Given the description of an element on the screen output the (x, y) to click on. 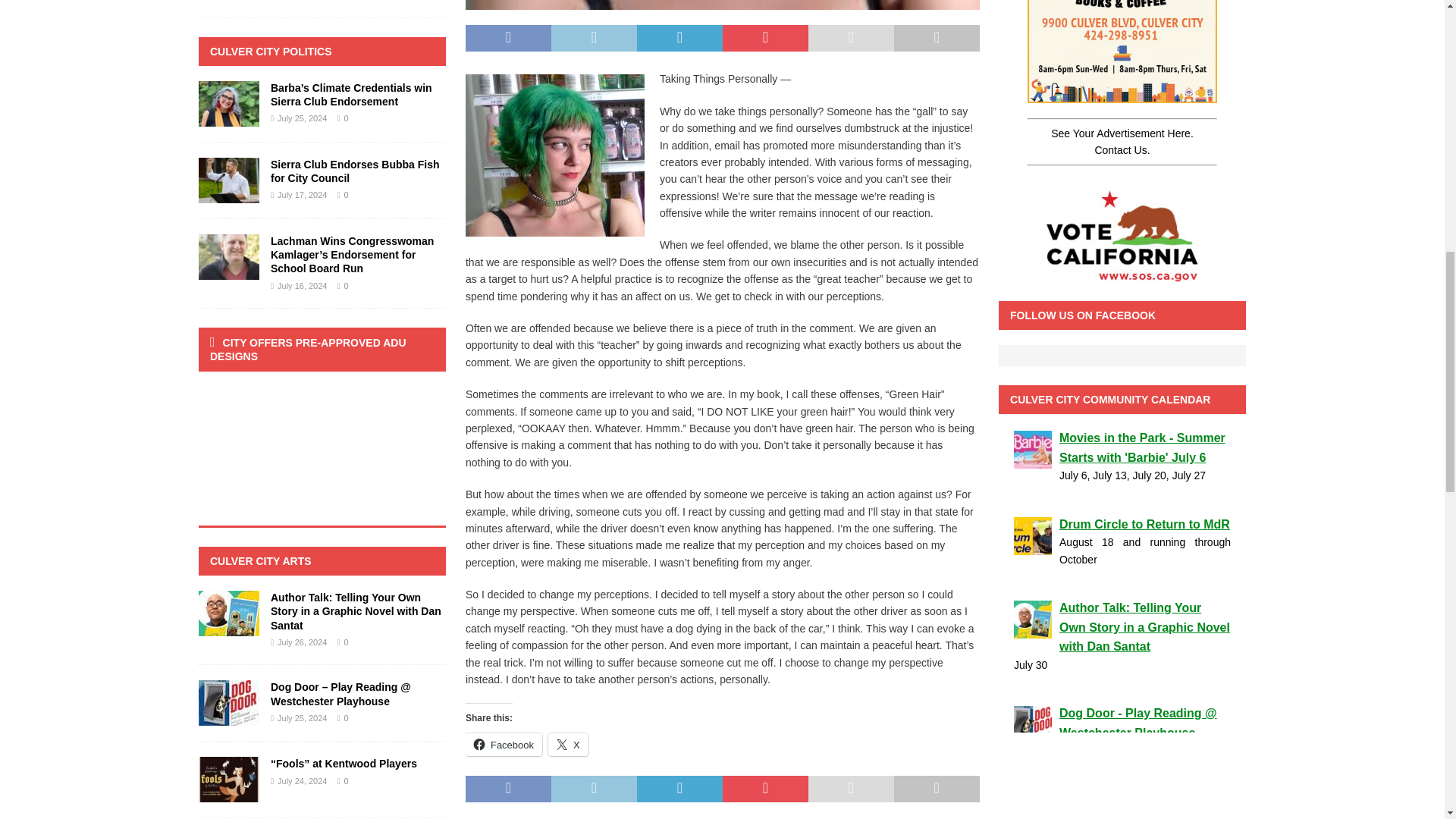
Movies in the Park - Summer Starts with 'Barbie' July 6 (1121, 447)
July 6, July 13, July 20, July 27 (1121, 475)
images (722, 4)
Drum Circle to Return to MdR (1121, 524)
July 30 (1121, 664)
August 18 and running through October (1121, 550)
